Given the description of an element on the screen output the (x, y) to click on. 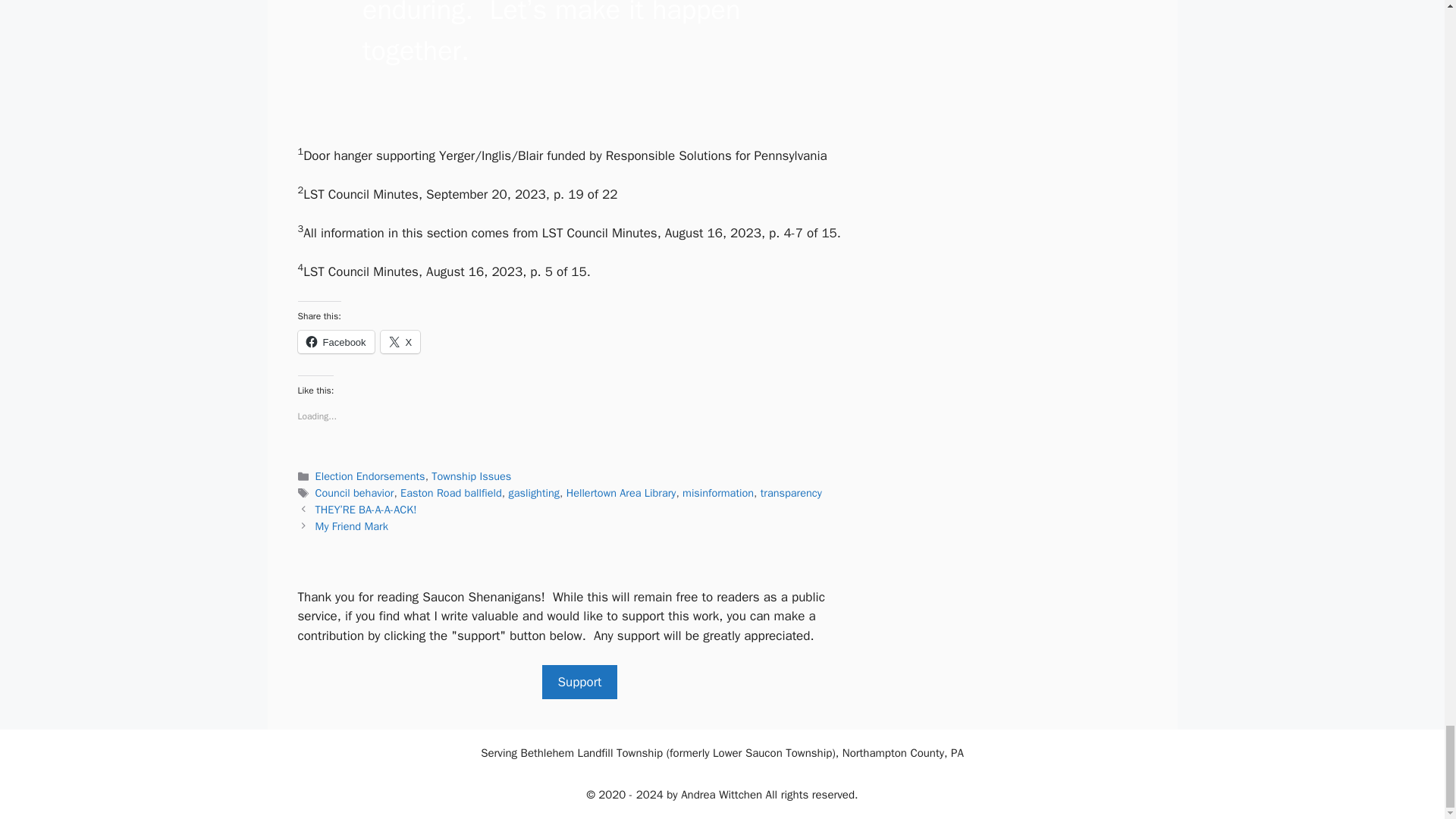
My Friend Mark (351, 526)
Township Issues (470, 476)
X (400, 341)
Easton Road ballfield (451, 492)
Click to share on X (400, 341)
Council behavior (354, 492)
Support (578, 682)
Hellertown Area Library (621, 492)
misinformation (718, 492)
Click to share on Facebook (335, 341)
transparency (791, 492)
Facebook (335, 341)
Election Endorsements (370, 476)
gaslighting (533, 492)
